Given the description of an element on the screen output the (x, y) to click on. 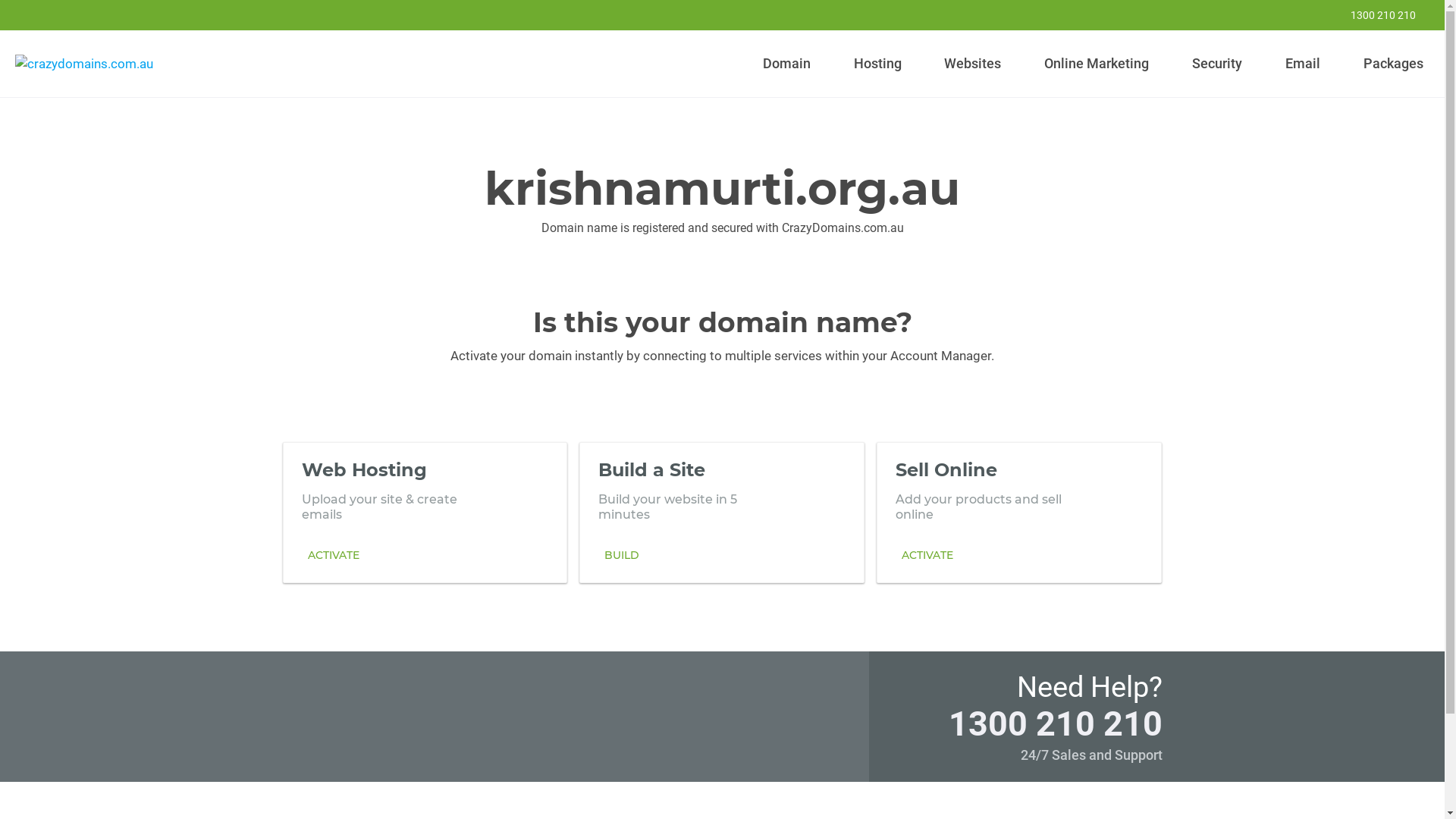
Build a Site
Build your website in 5 minutes
BUILD Element type: text (721, 511)
Domain Element type: text (786, 63)
Hosting Element type: text (877, 63)
Online Marketing Element type: text (1096, 63)
Web Hosting
Upload your site & create emails
ACTIVATE Element type: text (424, 511)
1300 210 210 Element type: text (1054, 723)
Packages Element type: text (1392, 63)
Sell Online
Add your products and sell online
ACTIVATE Element type: text (1018, 511)
Email Element type: text (1302, 63)
1300 210 210 Element type: text (1373, 15)
Security Element type: text (1217, 63)
Websites Element type: text (972, 63)
